Given the description of an element on the screen output the (x, y) to click on. 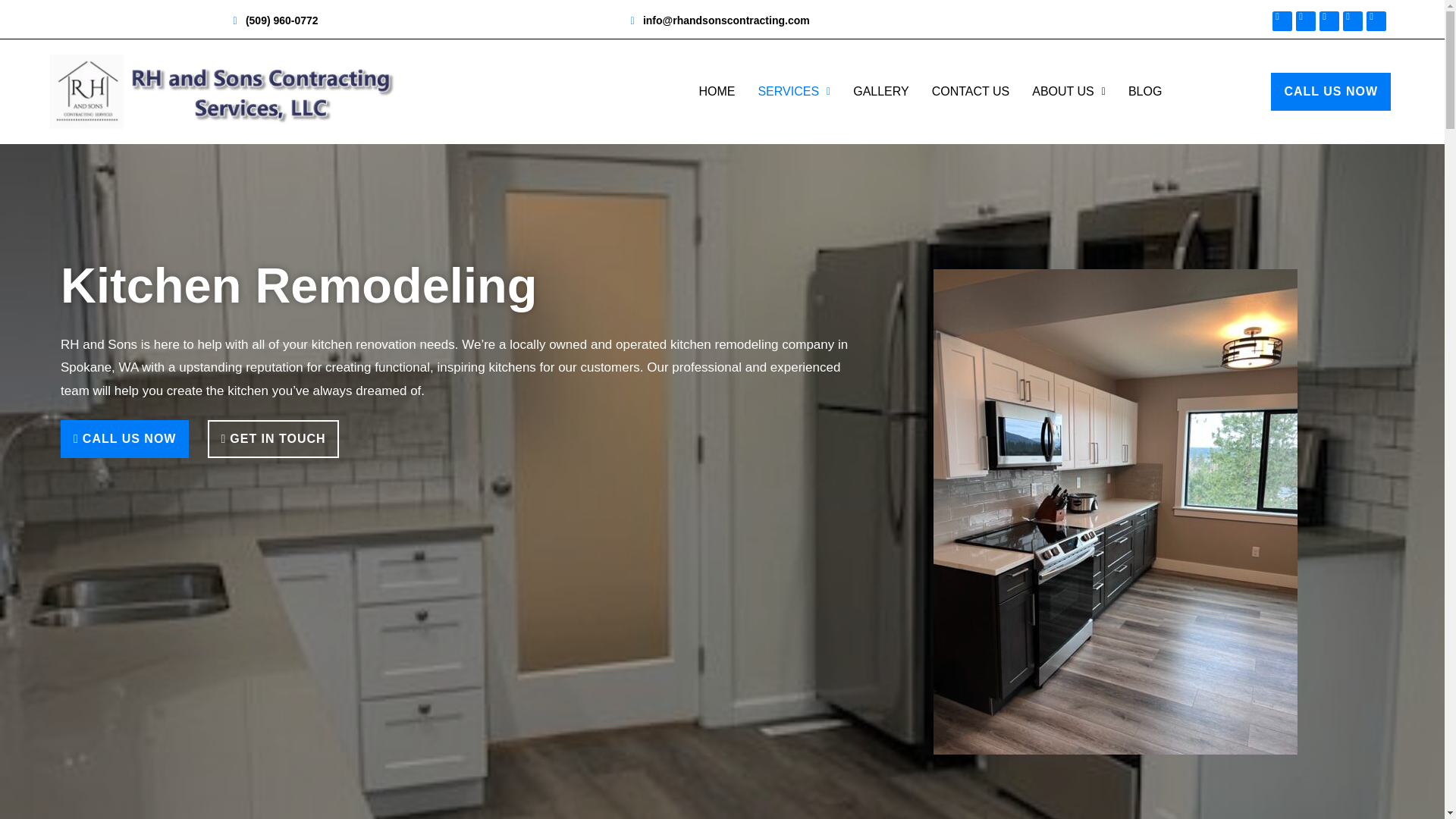
CALL US NOW (1330, 91)
SERVICES (793, 91)
GALLERY (880, 91)
CONTACT US (971, 91)
HOME (716, 91)
CALL US NOW (125, 438)
BLOG (1144, 91)
GET IN TOUCH (272, 438)
ABOUT US (1068, 91)
